Given the description of an element on the screen output the (x, y) to click on. 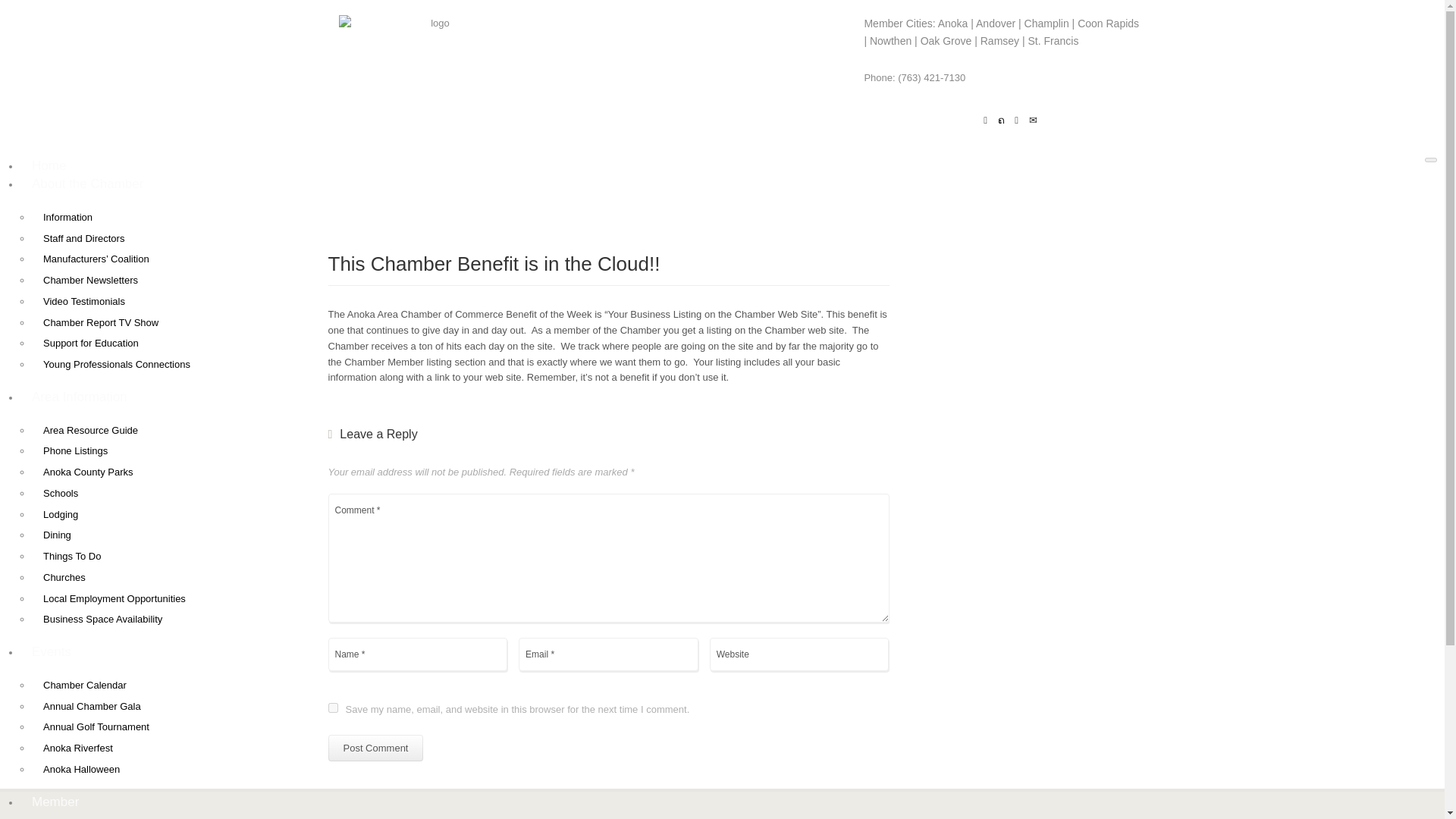
Dining (57, 534)
Chamber Calendar (85, 684)
Schools (60, 492)
Phone Listings (75, 450)
Staff and Directors (83, 238)
Member (55, 801)
Post Comment (375, 747)
Home (48, 165)
Events (51, 651)
Chamber Report TV Show (101, 321)
